Given the description of an element on the screen output the (x, y) to click on. 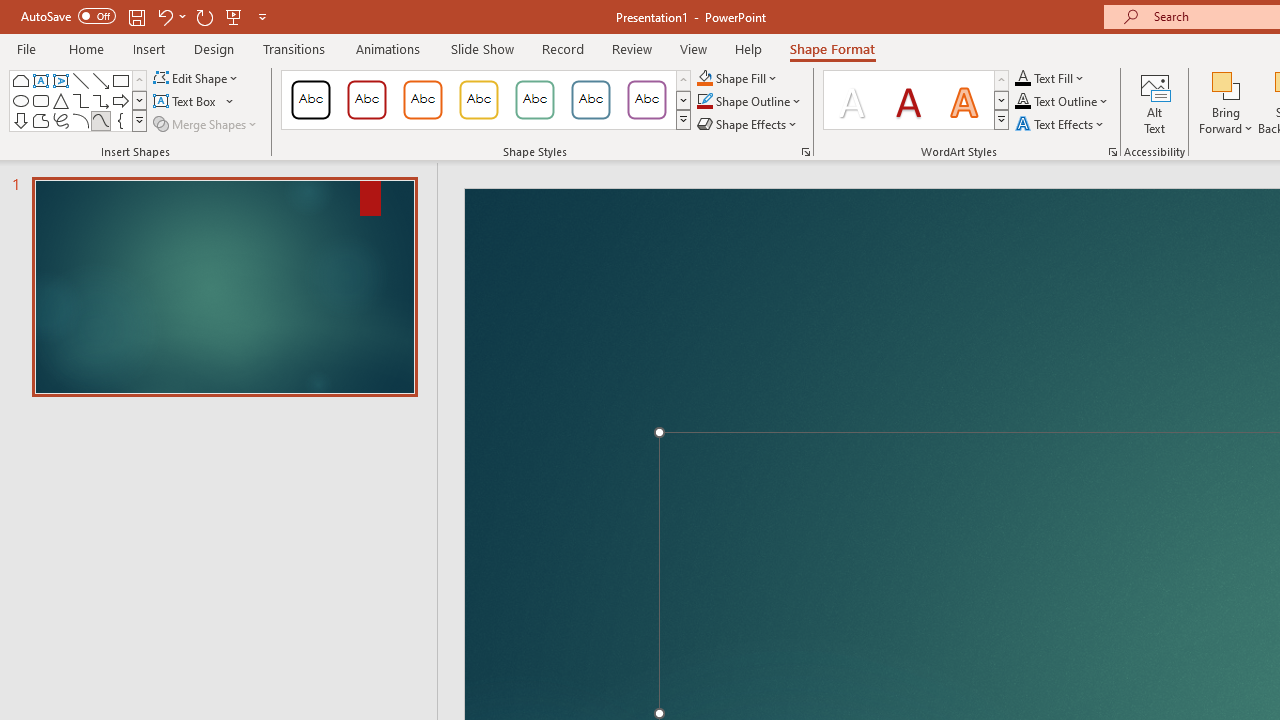
AutomationID: ShapeStylesGallery (486, 99)
File Tab (26, 48)
Help (748, 48)
Row Down (1001, 100)
Design (214, 48)
Colored Outline - Purple, Accent 6 (646, 100)
Isosceles Triangle (60, 100)
Fill: Dark Red, Accent color 1; Shadow (908, 100)
Shape Format (832, 48)
Review (631, 48)
Record (562, 48)
Customize Quick Access Toolbar (262, 15)
Draw Horizontal Text Box (185, 101)
Insert (149, 48)
System (10, 11)
